Given the description of an element on the screen output the (x, y) to click on. 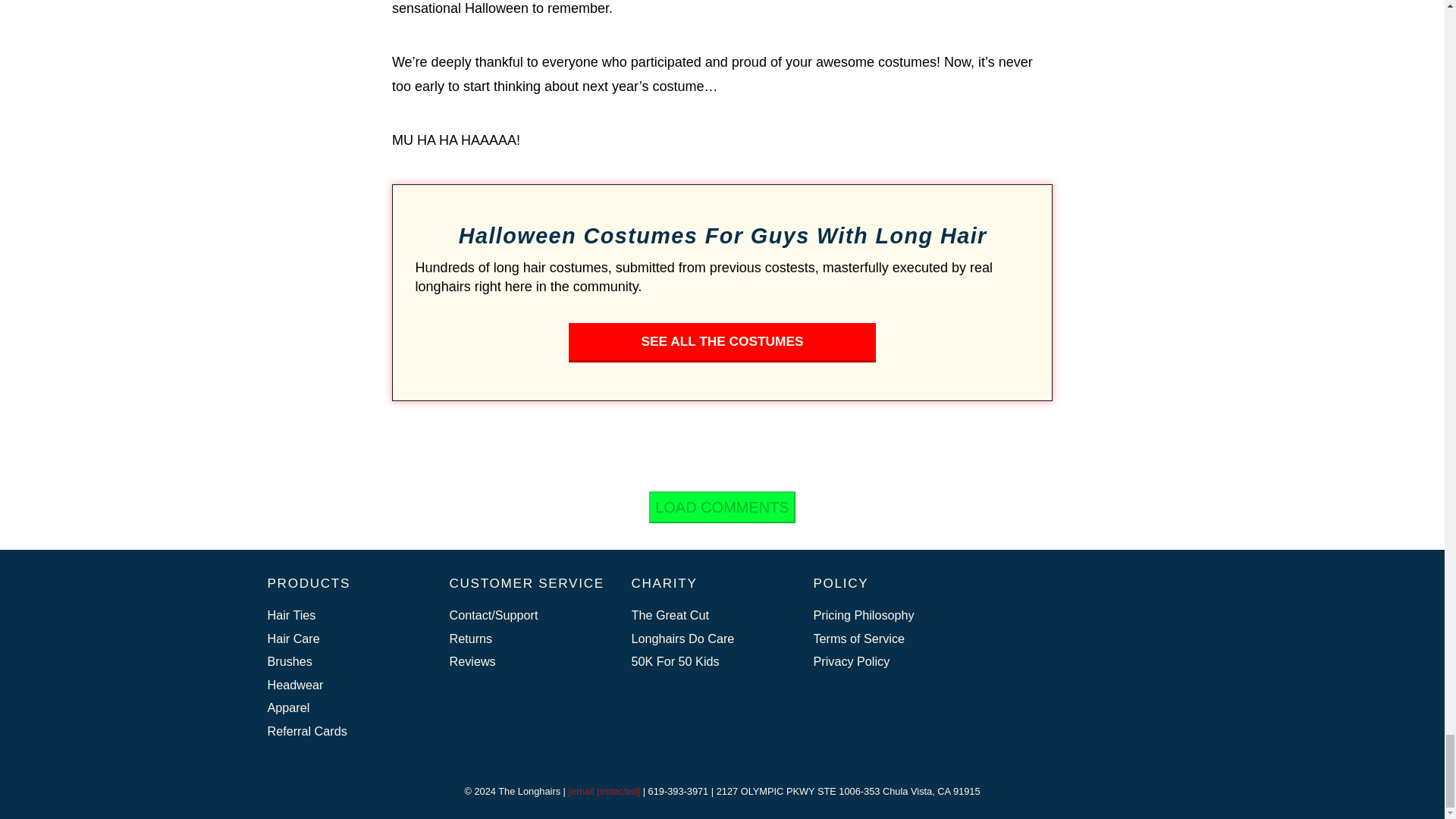
SEE ALL THE COSTUMES (722, 342)
